Given the description of an element on the screen output the (x, y) to click on. 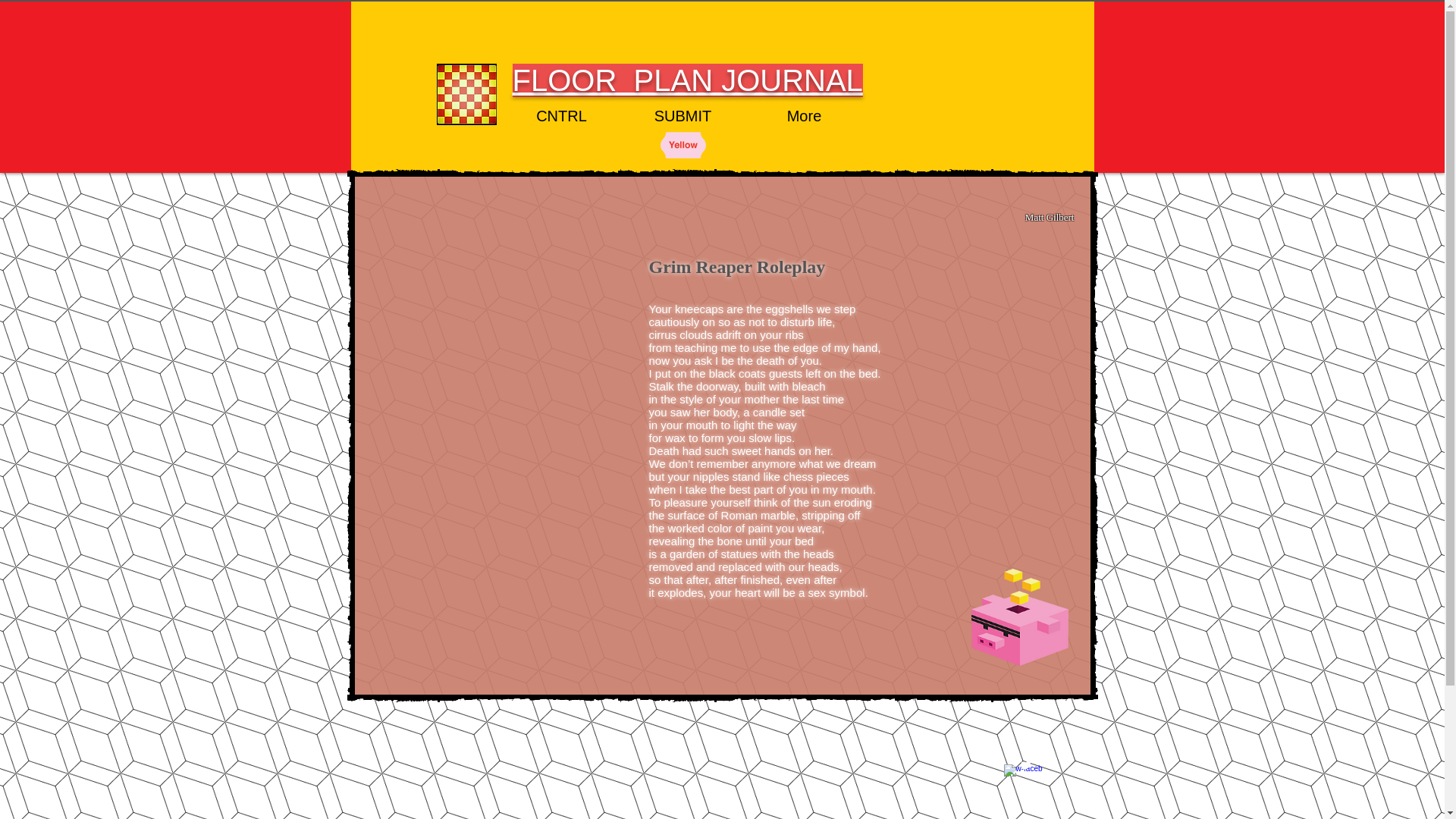
CNTRL (560, 116)
SUBMIT (681, 116)
